Given the description of an element on the screen output the (x, y) to click on. 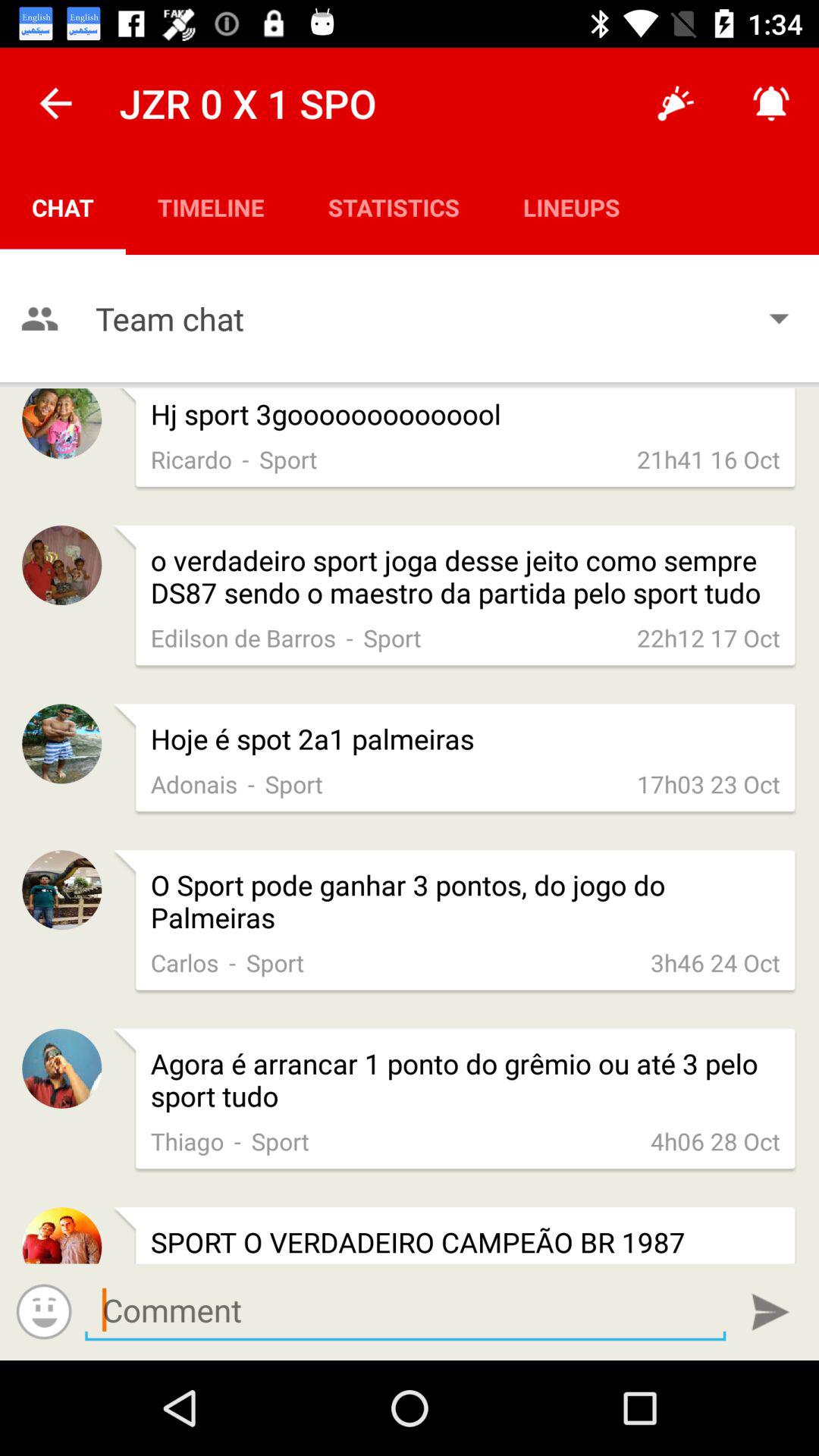
press the 22h12 17 oct icon (708, 637)
